Given the description of an element on the screen output the (x, y) to click on. 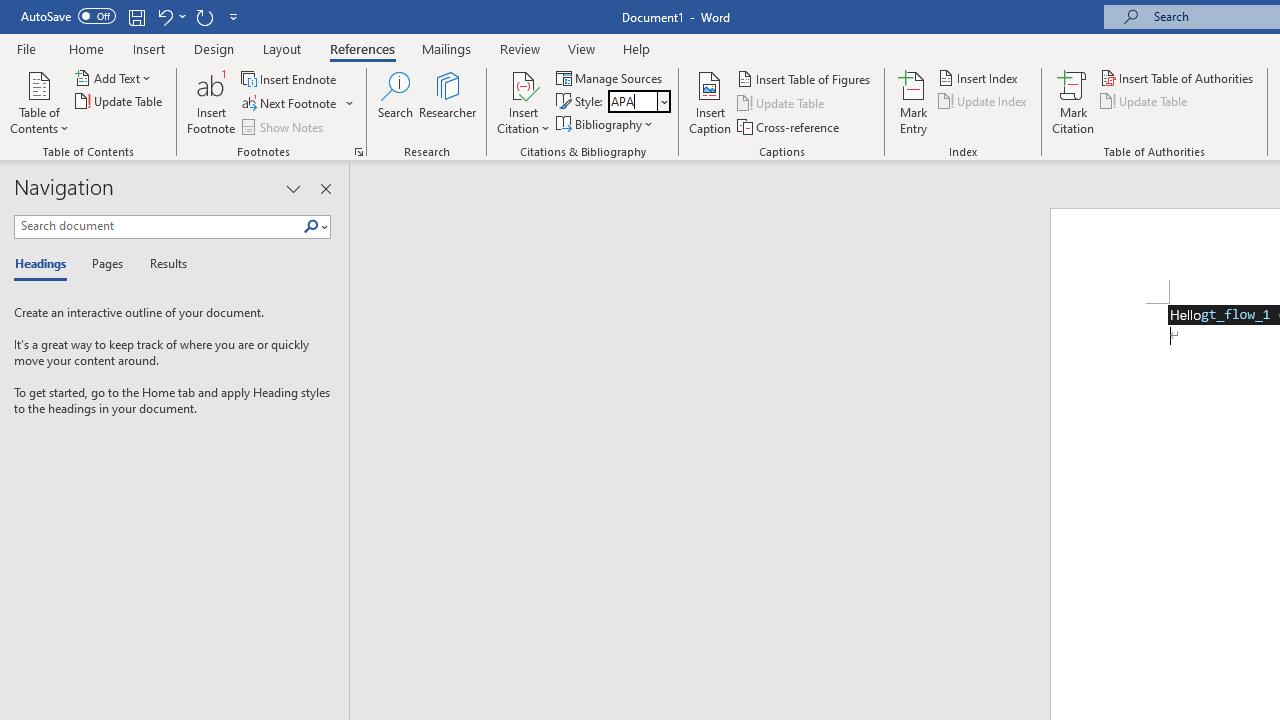
Search (315, 227)
Insert Table of Figures... (804, 78)
System (10, 11)
References (362, 48)
Mark Entry... (913, 102)
Update Table... (119, 101)
More Options (350, 103)
Update Table (1145, 101)
Insert Footnote (211, 102)
Insert Citation (523, 102)
Style (632, 101)
Undo Underline Style (170, 15)
Repeat Underline Style (204, 15)
Manage Sources... (610, 78)
